Given the description of an element on the screen output the (x, y) to click on. 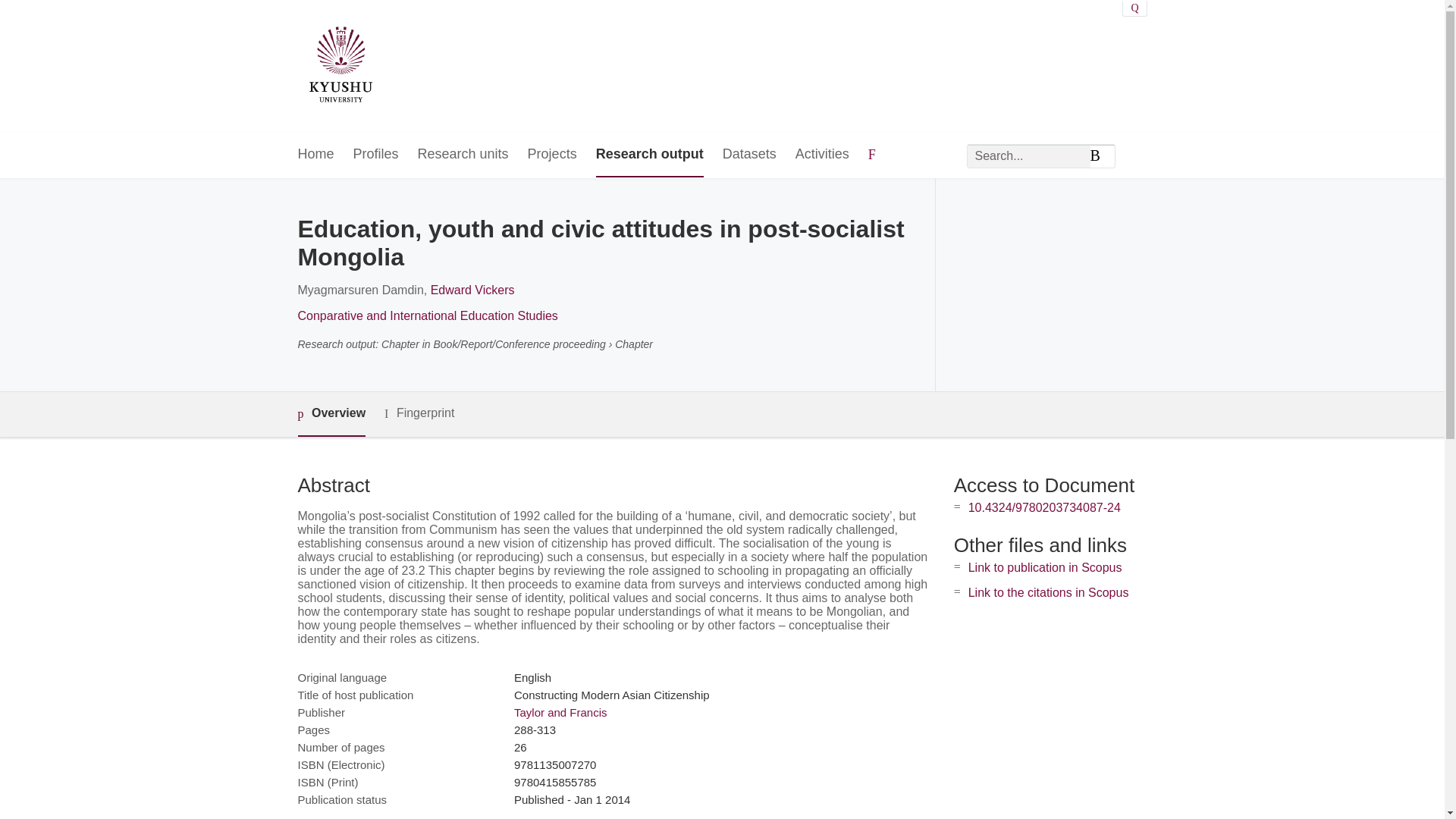
Research units (462, 154)
Activities (821, 154)
Overview (331, 414)
Taylor and Francis (560, 712)
Edward Vickers (472, 289)
Fingerprint (419, 413)
Projects (551, 154)
Conparative and International Education Studies (427, 315)
Datasets (749, 154)
Link to publication in Scopus (1045, 567)
Profiles (375, 154)
Link to the citations in Scopus (1048, 592)
Research output (649, 154)
